Given the description of an element on the screen output the (x, y) to click on. 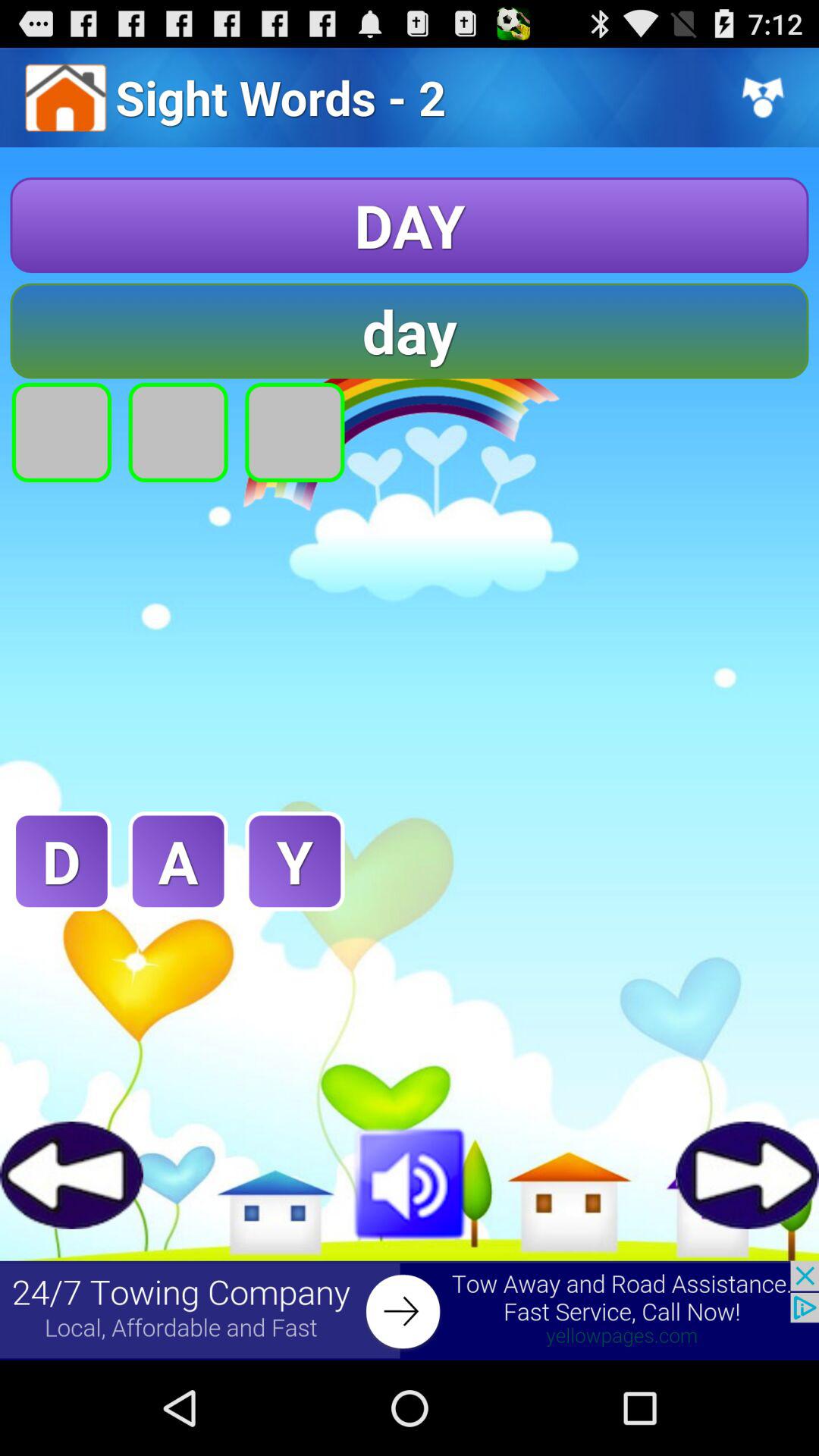
mute (409, 1181)
